Given the description of an element on the screen output the (x, y) to click on. 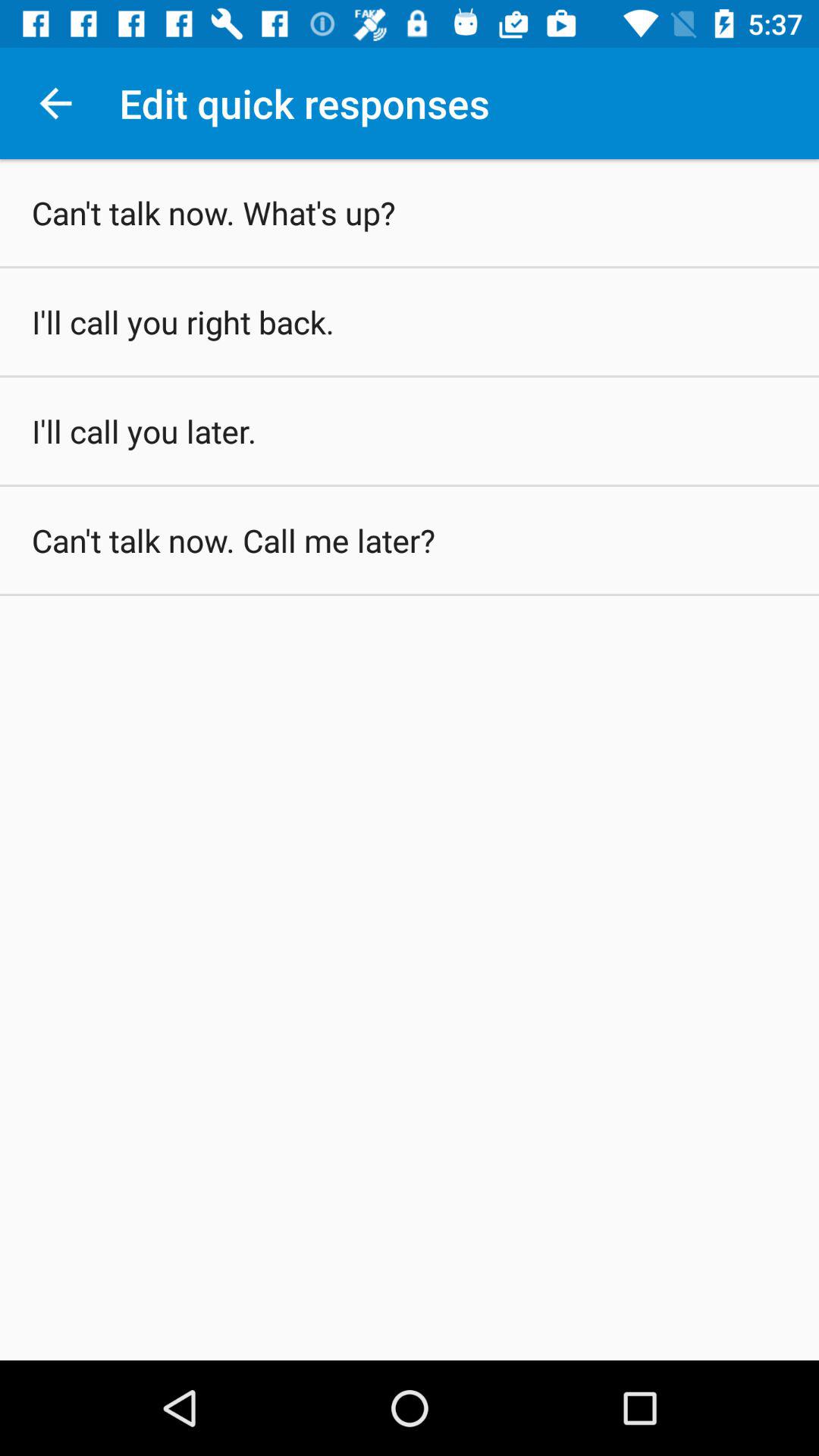
choose icon to the left of the edit quick responses (55, 103)
